Given the description of an element on the screen output the (x, y) to click on. 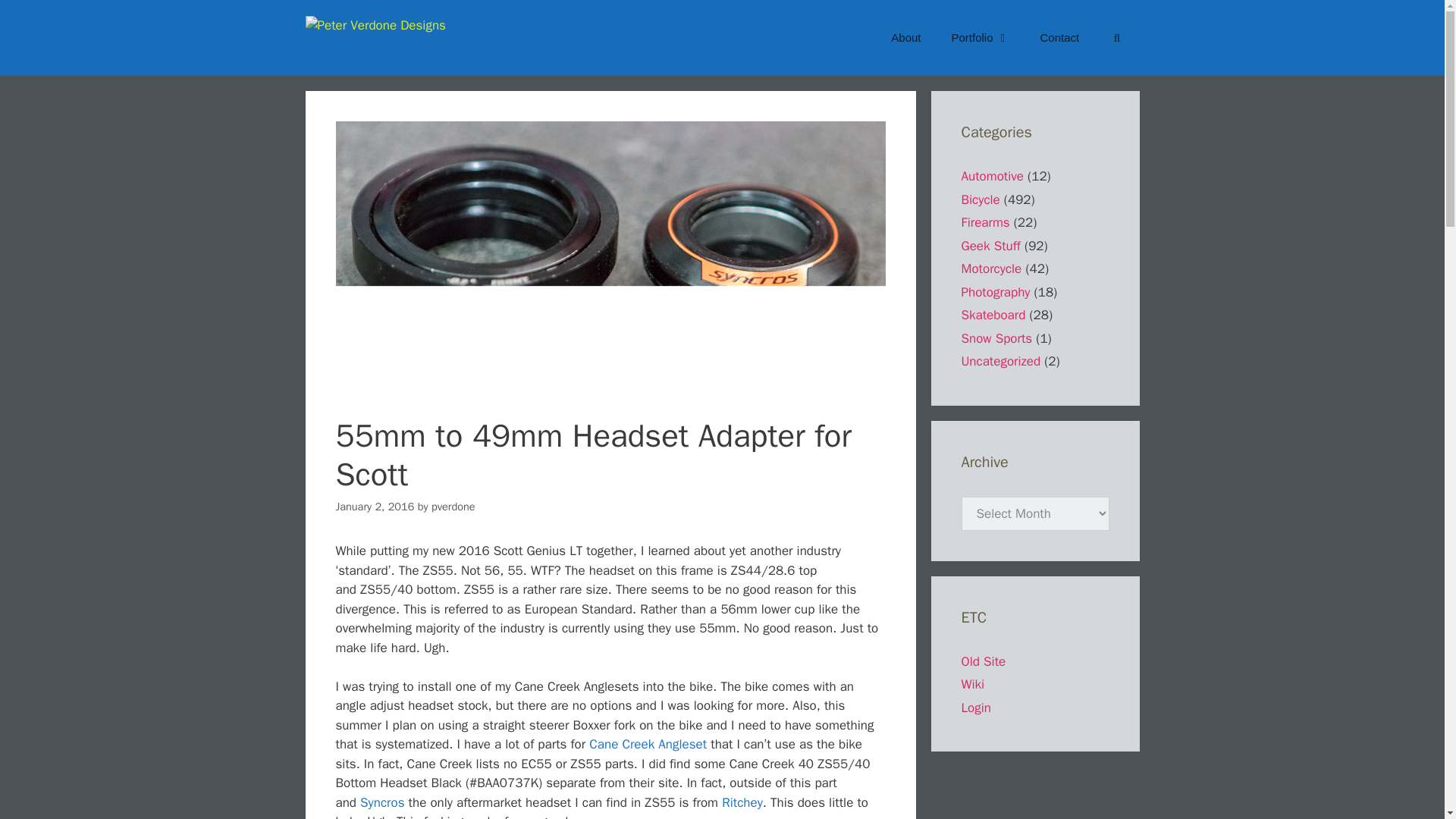
Syncros (381, 802)
Cane Creek Angleset (647, 744)
About (906, 37)
Portfolio (980, 37)
Contact (1059, 37)
pverdone (453, 506)
Ritchey (742, 802)
View all posts by pverdone (453, 506)
